Given the description of an element on the screen output the (x, y) to click on. 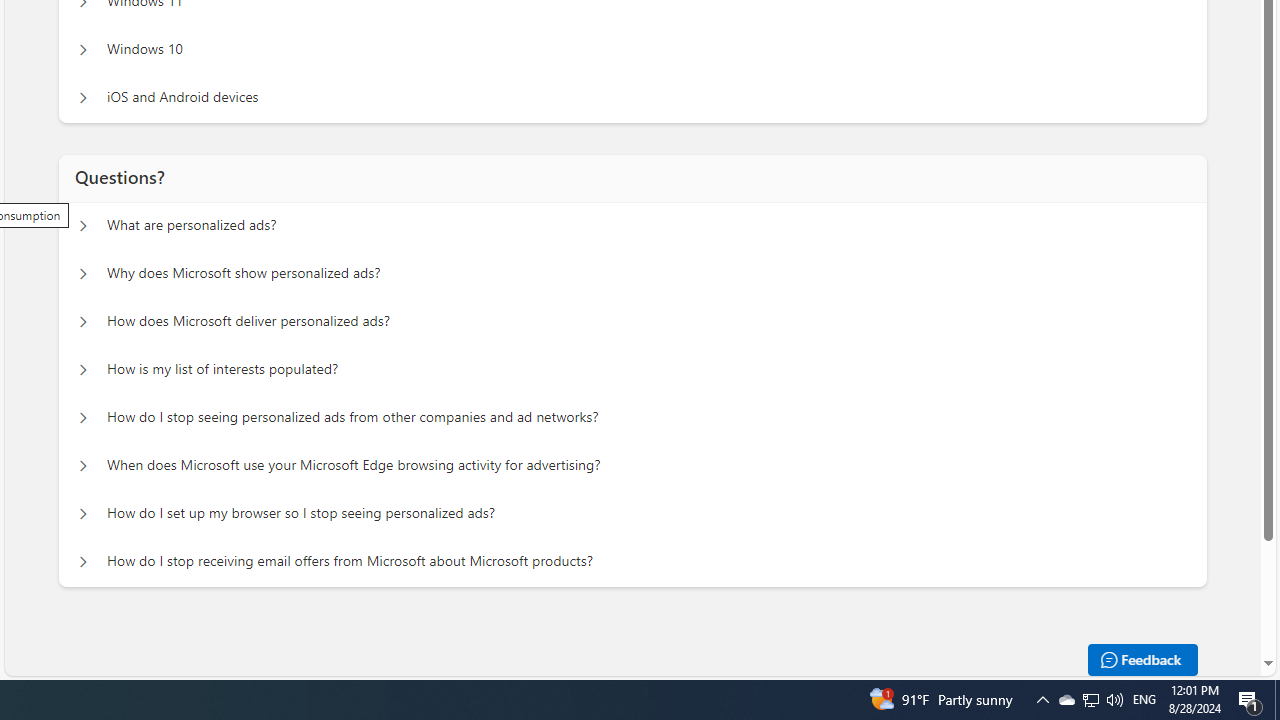
Questions? Why does Microsoft show personalized ads? (82, 273)
Questions? How does Microsoft deliver personalized ads? (82, 322)
Questions? What are personalized ads? (82, 226)
Questions? How is my list of interests populated? (82, 370)
